Given the description of an element on the screen output the (x, y) to click on. 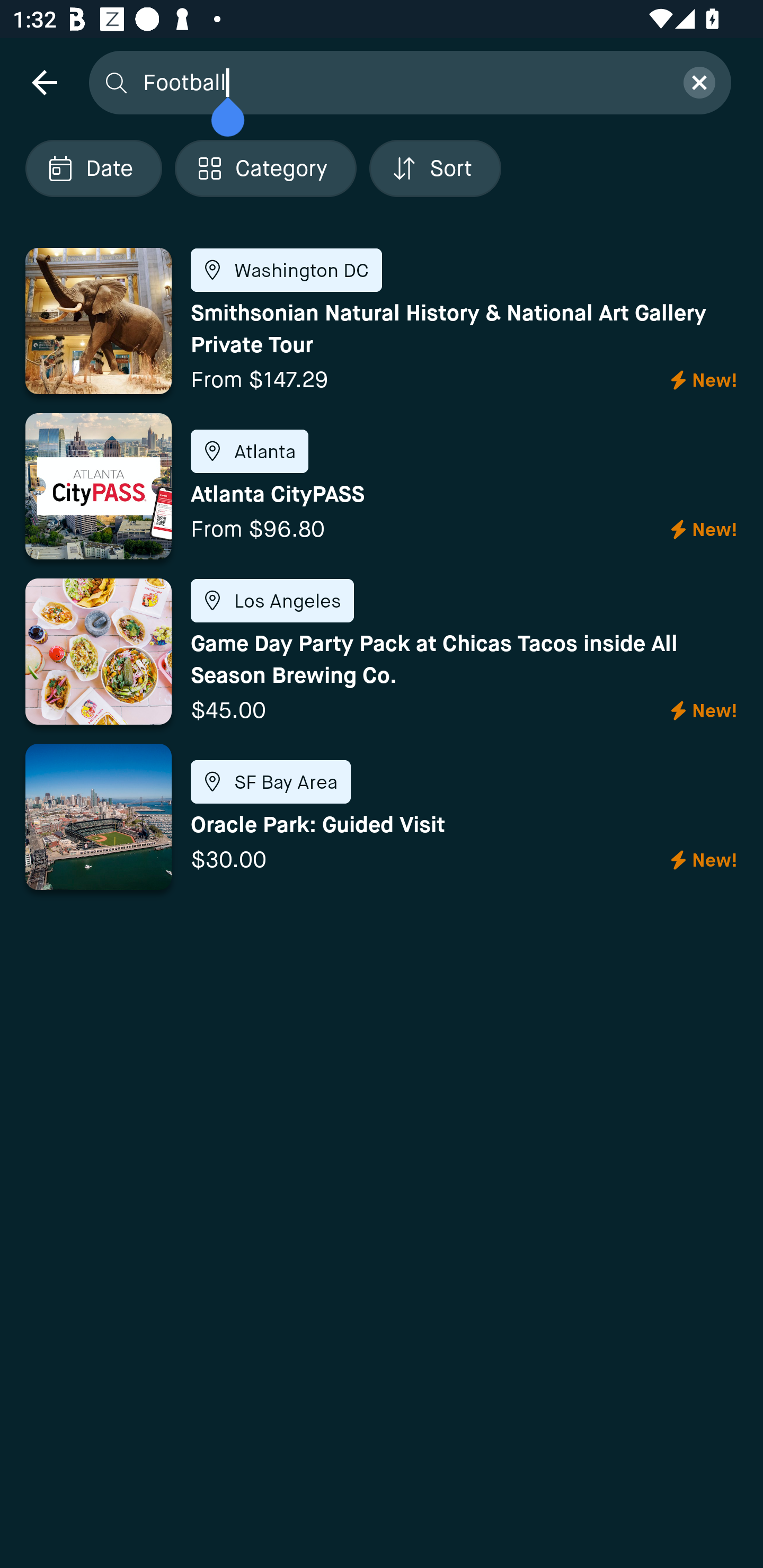
navigation icon (44, 81)
Football (402, 81)
Localized description Date (93, 168)
Localized description Category (265, 168)
Localized description Sort (435, 168)
